Given the description of an element on the screen output the (x, y) to click on. 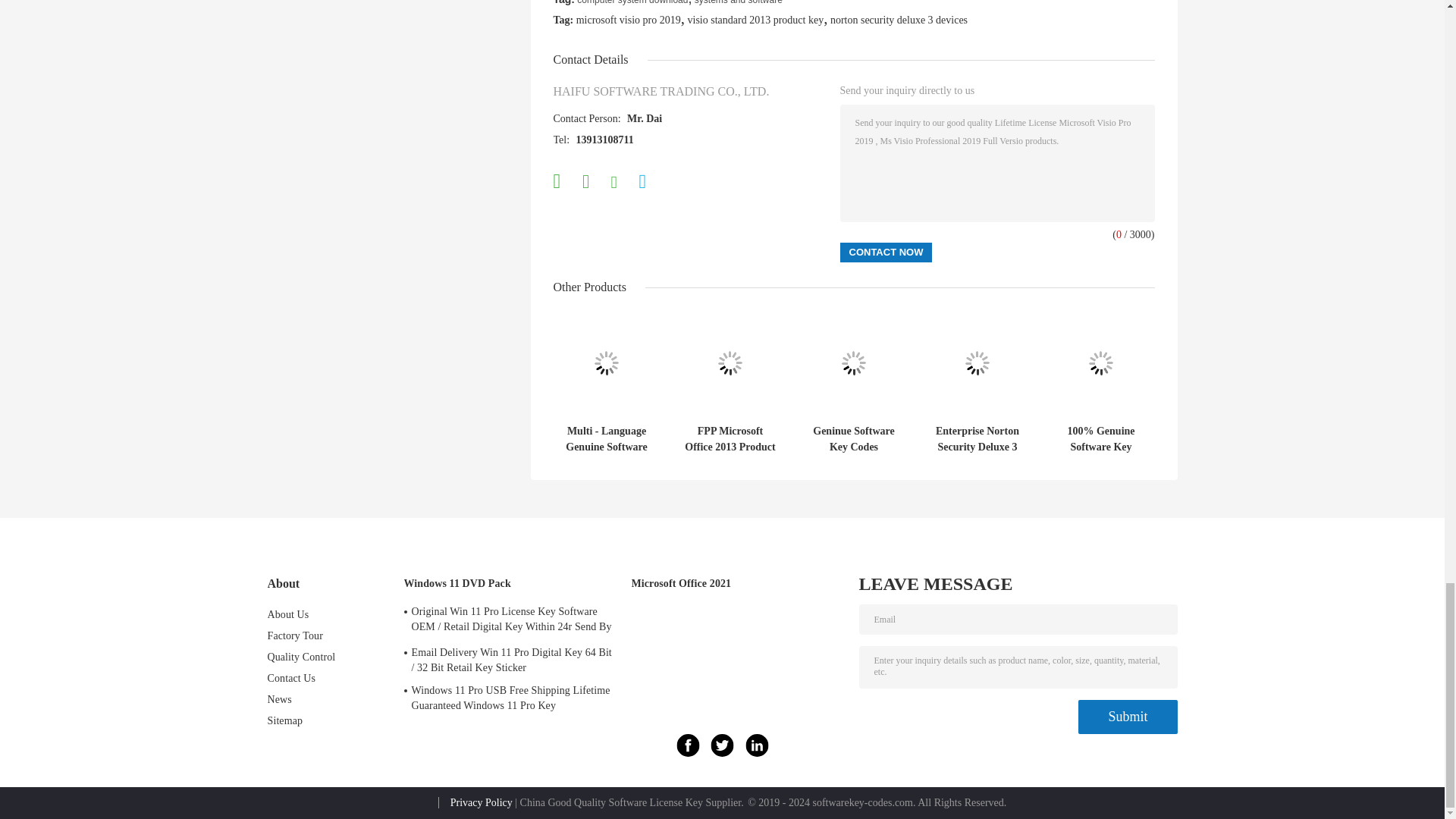
microsoft visio pro 2019 (628, 19)
computer system download (631, 2)
visio standard 2013 product key (755, 19)
Submit (1127, 716)
Contact Now (886, 252)
systems and software (738, 2)
